Given the description of an element on the screen output the (x, y) to click on. 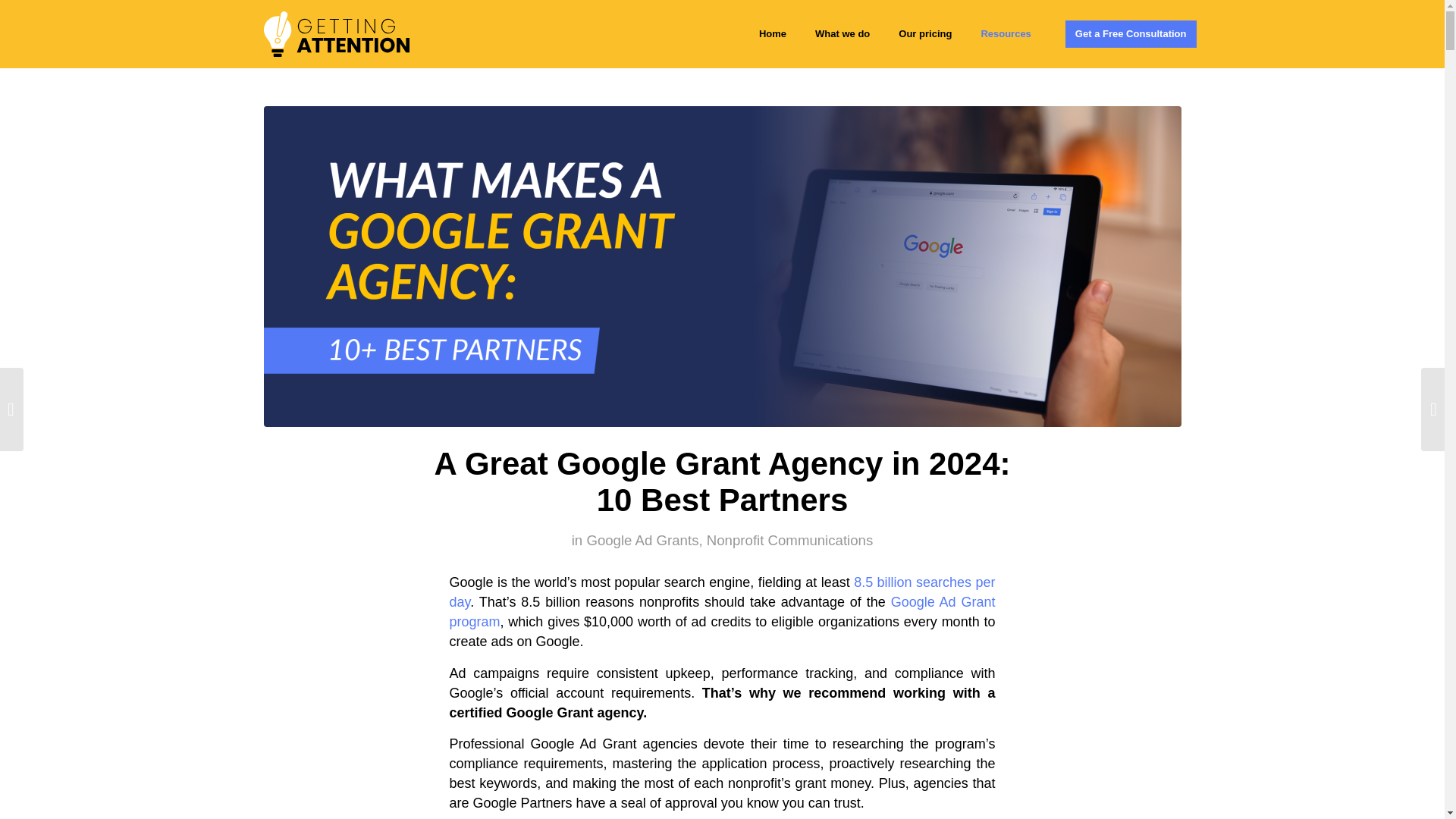
Google Ad Grants (642, 539)
Google Ad Grant program (721, 611)
Our pricing (924, 33)
What we do (842, 33)
Resources (1006, 33)
Nonprofit Communications (789, 539)
Get a Free Consultation (1130, 33)
Home (772, 33)
8.5 billion searches per day (721, 591)
A Great Google Grant Agency in 2024: 10 Best Partners (721, 481)
